Given the description of an element on the screen output the (x, y) to click on. 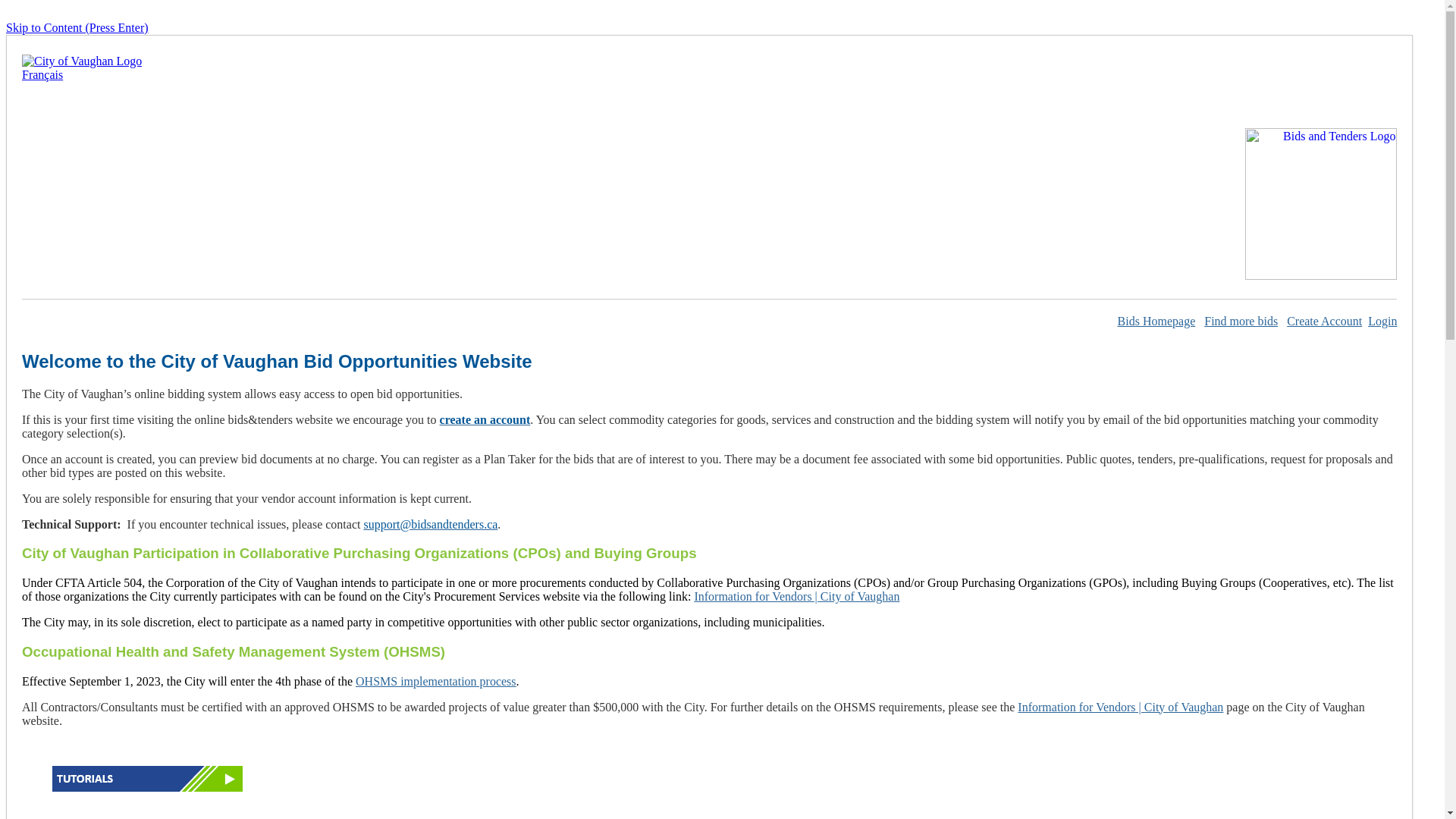
Create Account Element type: text (1323, 320)
Information for Vendors | City of Vaughan Element type: text (1120, 706)
Bids Homepage Element type: text (1156, 320)
Open Bids and Tenders site in a new window Element type: hover (1320, 275)
OHSMS implementation process Element type: text (435, 680)
Information for Vendors | City of Vaughan Element type: text (796, 595)
create an account Element type: text (484, 419)
Skip to Content (Press Enter) Element type: text (77, 27)
Open City of Vaughan site in a new window Element type: hover (81, 60)
Login Element type: text (1382, 320)
Find more bids Element type: text (1240, 320)
support@bidsandtenders.ca Element type: text (430, 523)
